Given the description of an element on the screen output the (x, y) to click on. 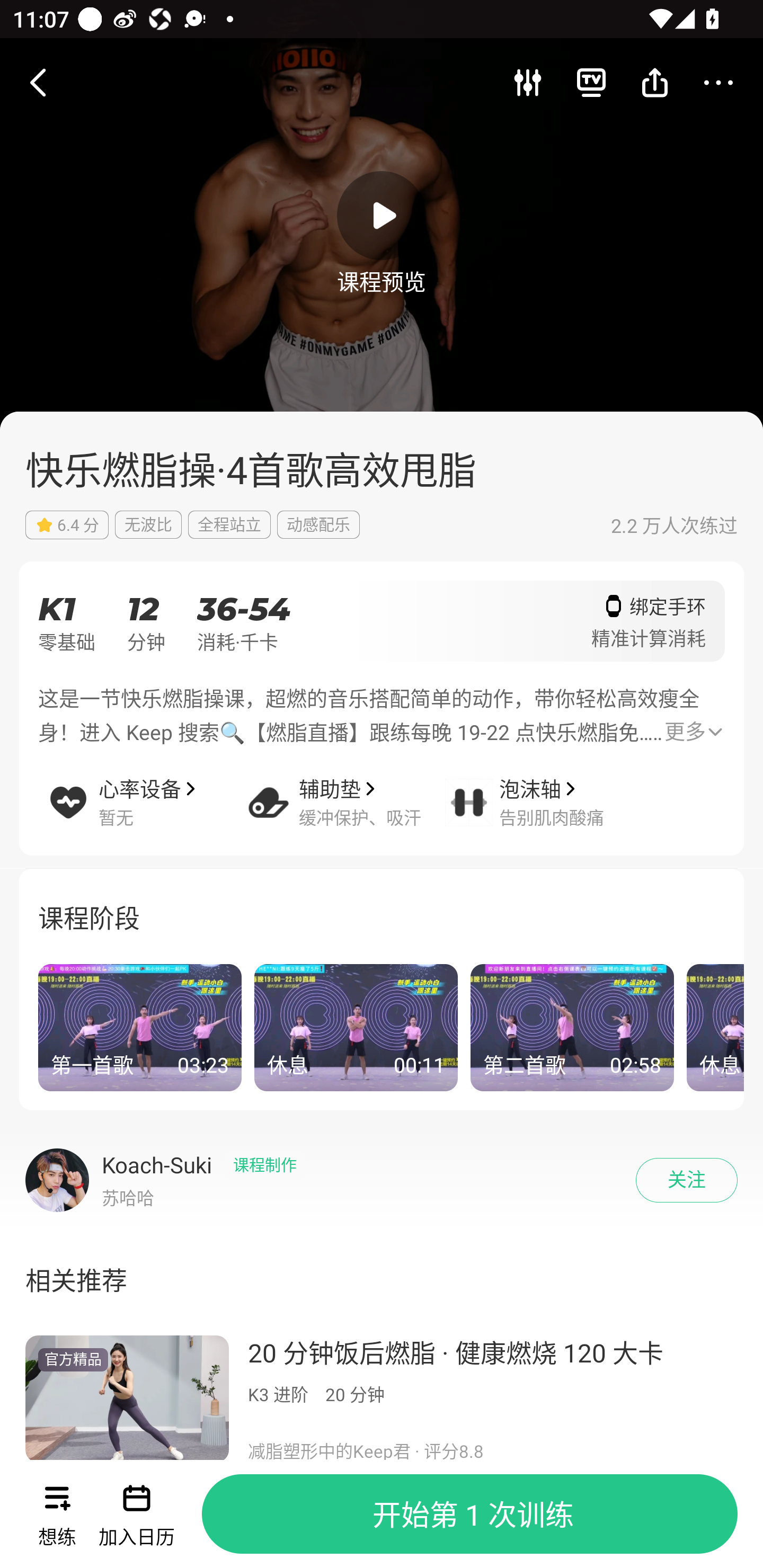
绑定手环 精准计算消耗 (648, 626)
更多 (692, 731)
心率设备 暂无 (144, 789)
辅助垫 缓冲保护、吸汗 (344, 789)
泡沫轴 告别肌肉酸痛 (544, 789)
第一首歌 03:23 (139, 1027)
休息 00:11 (355, 1027)
第二首歌 02:58 (571, 1027)
Koach-Suki 课程制作 苏哈哈 关注 (381, 1179)
关注 (686, 1180)
开始第 1 次训练 (469, 1513)
想练 (56, 1513)
加入日历 (136, 1513)
